Given the description of an element on the screen output the (x, y) to click on. 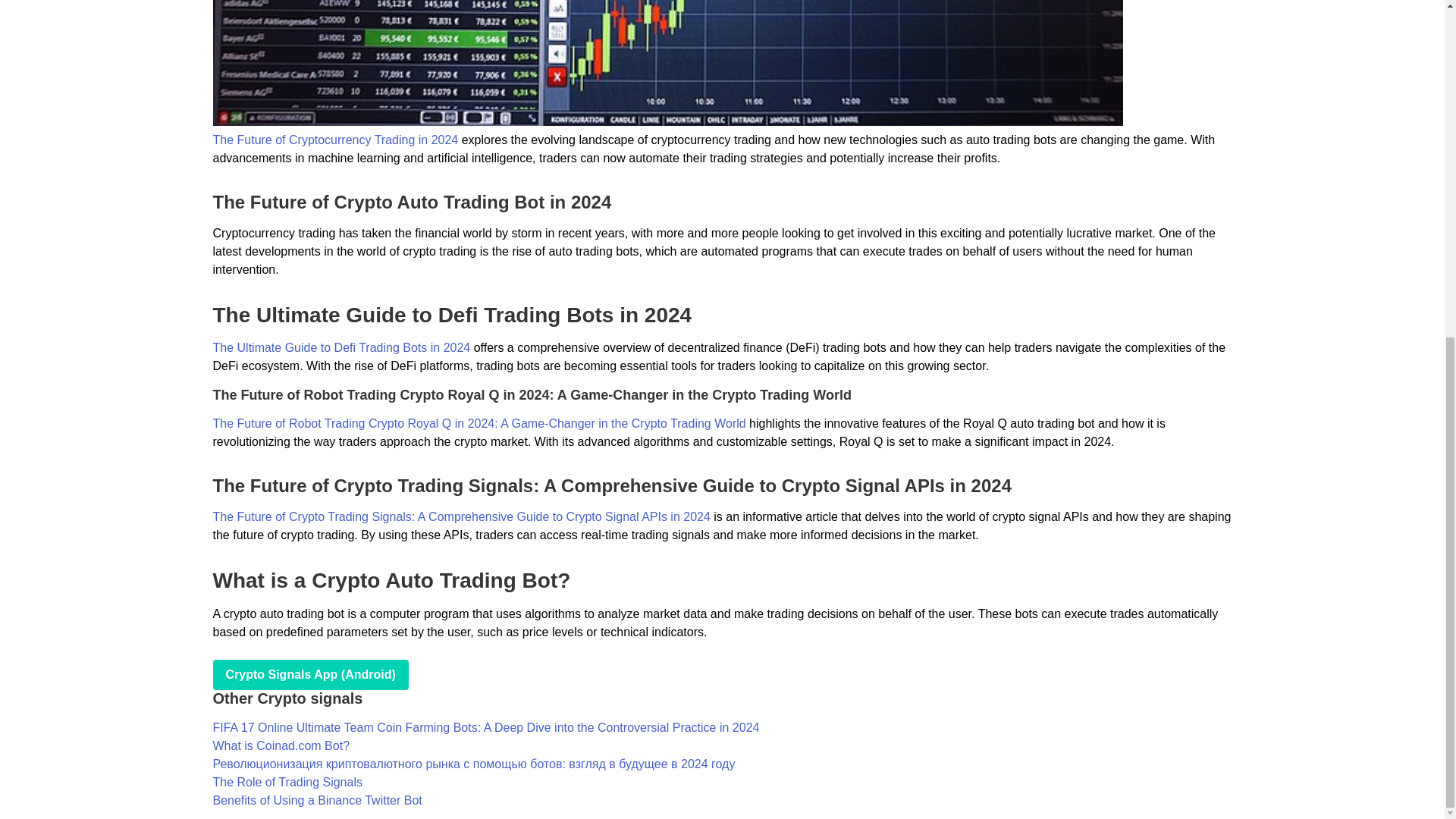
Benefits of Using a Binance Twitter Bot (317, 799)
The Role of Trading Signals (286, 781)
Benefits of Using a Binance Twitter Bot (317, 799)
play (309, 675)
The Role of Trading Signals (286, 781)
What is Coinad.com Bot? (280, 745)
